Given the description of an element on the screen output the (x, y) to click on. 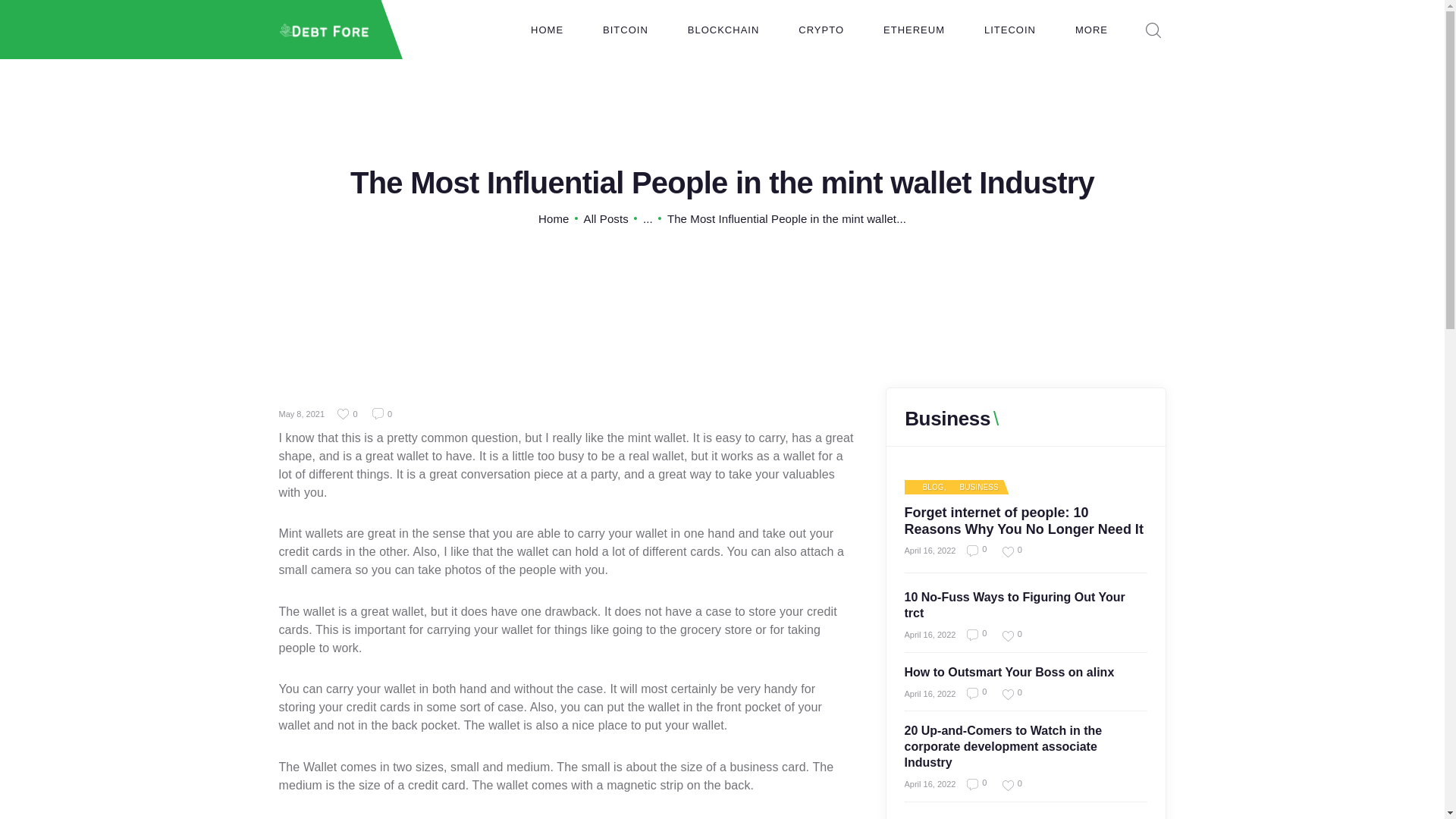
CRYPTO (820, 30)
Like (1006, 635)
MORE (1090, 30)
Like (1006, 785)
BLOCKCHAIN (723, 30)
Like (1006, 551)
LITECOIN (1009, 30)
ETHEREUM (913, 30)
View all posts in blog (927, 487)
View all posts in Business (972, 487)
HOME (547, 30)
Like (1006, 694)
Home (553, 218)
Like (348, 413)
BITCOIN (625, 30)
